Given the description of an element on the screen output the (x, y) to click on. 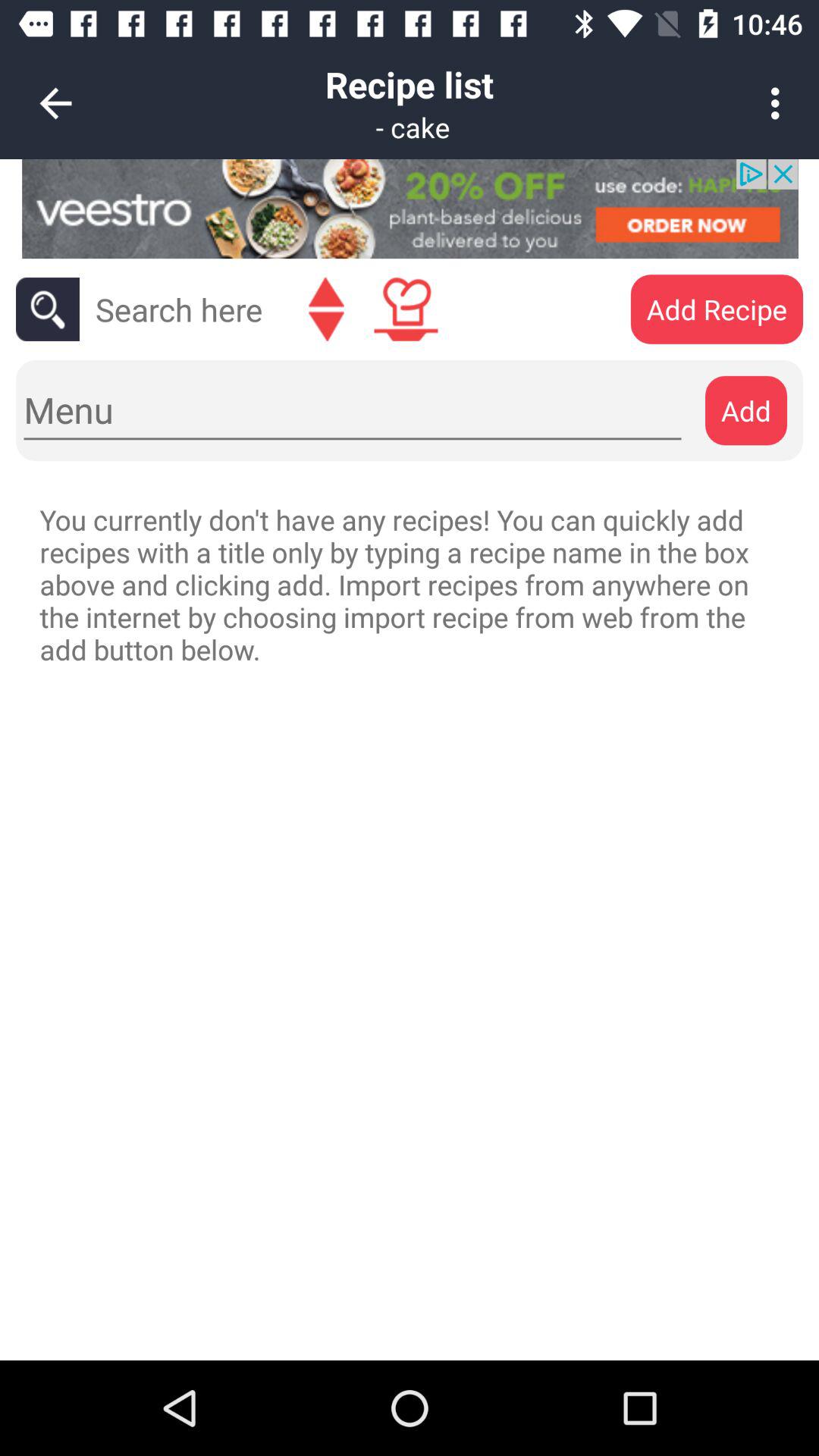
scroll up down (326, 309)
